Given the description of an element on the screen output the (x, y) to click on. 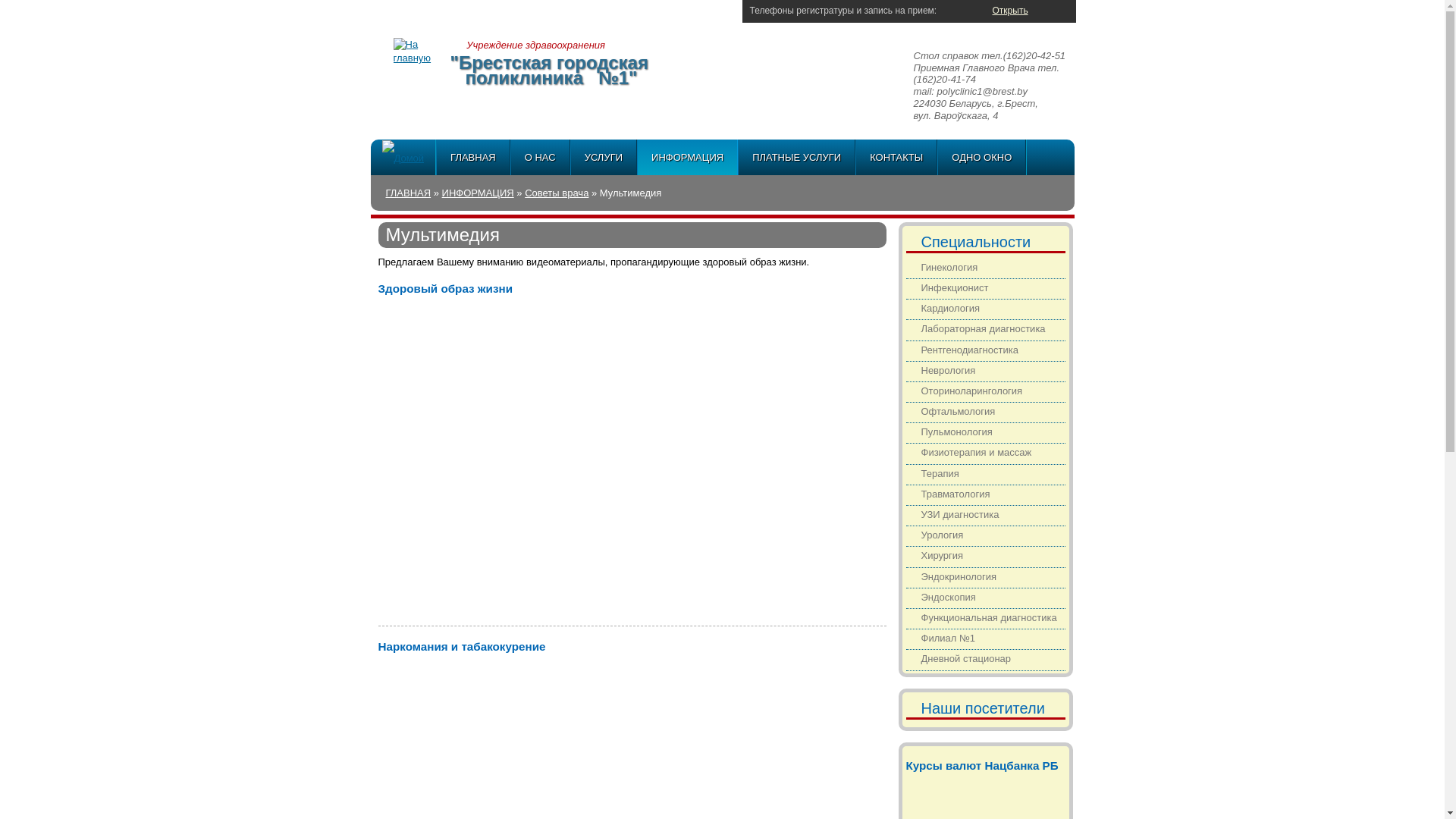
YouTube video player Element type: hover (503, 539)
YouTube video player Element type: hover (503, 384)
YouTube video player Element type: hover (758, 742)
YouTube video player Element type: hover (503, 742)
YouTube video player Element type: hover (758, 384)
